Given the description of an element on the screen output the (x, y) to click on. 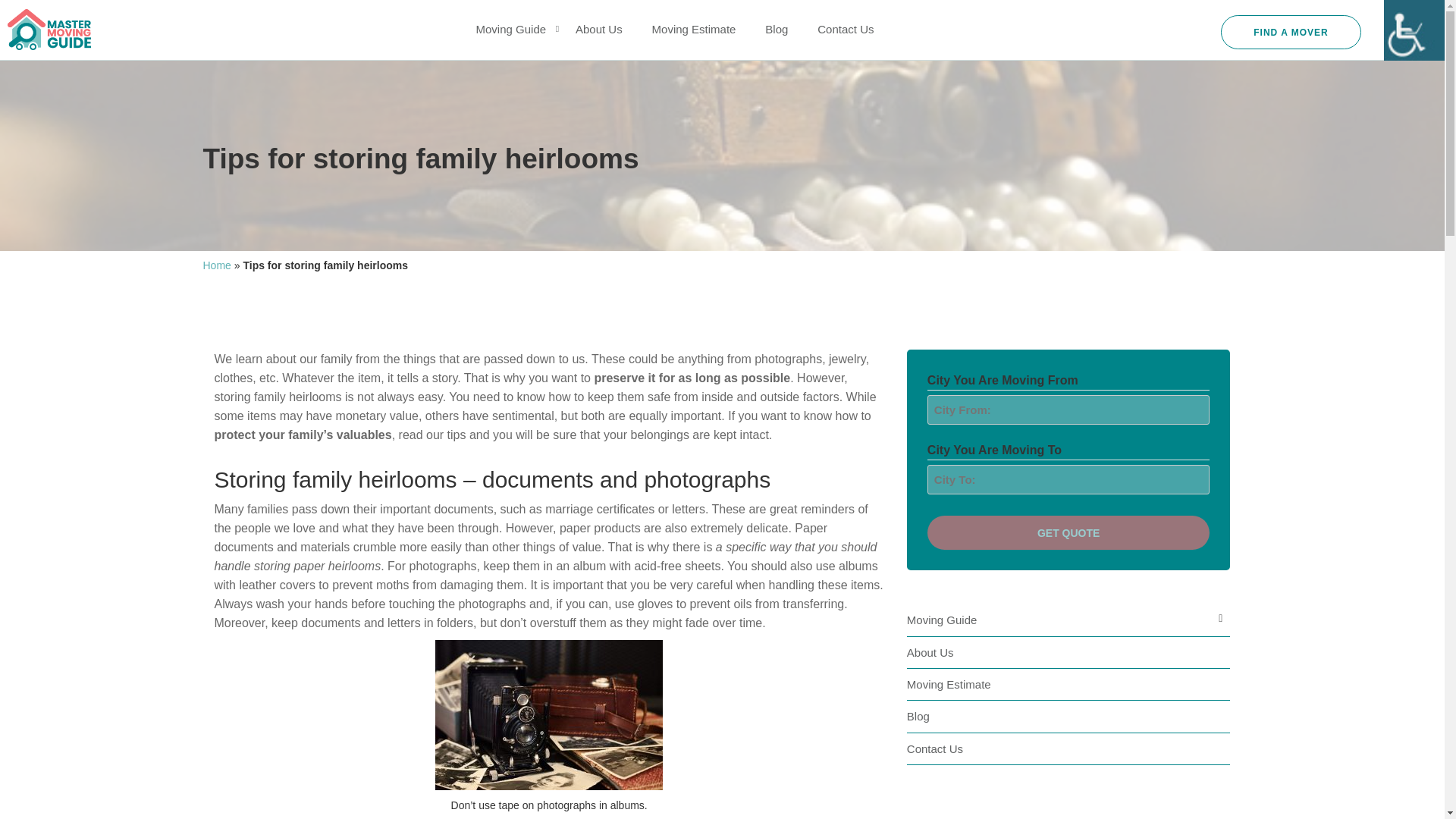
Get Quote (1068, 532)
